Given the description of an element on the screen output the (x, y) to click on. 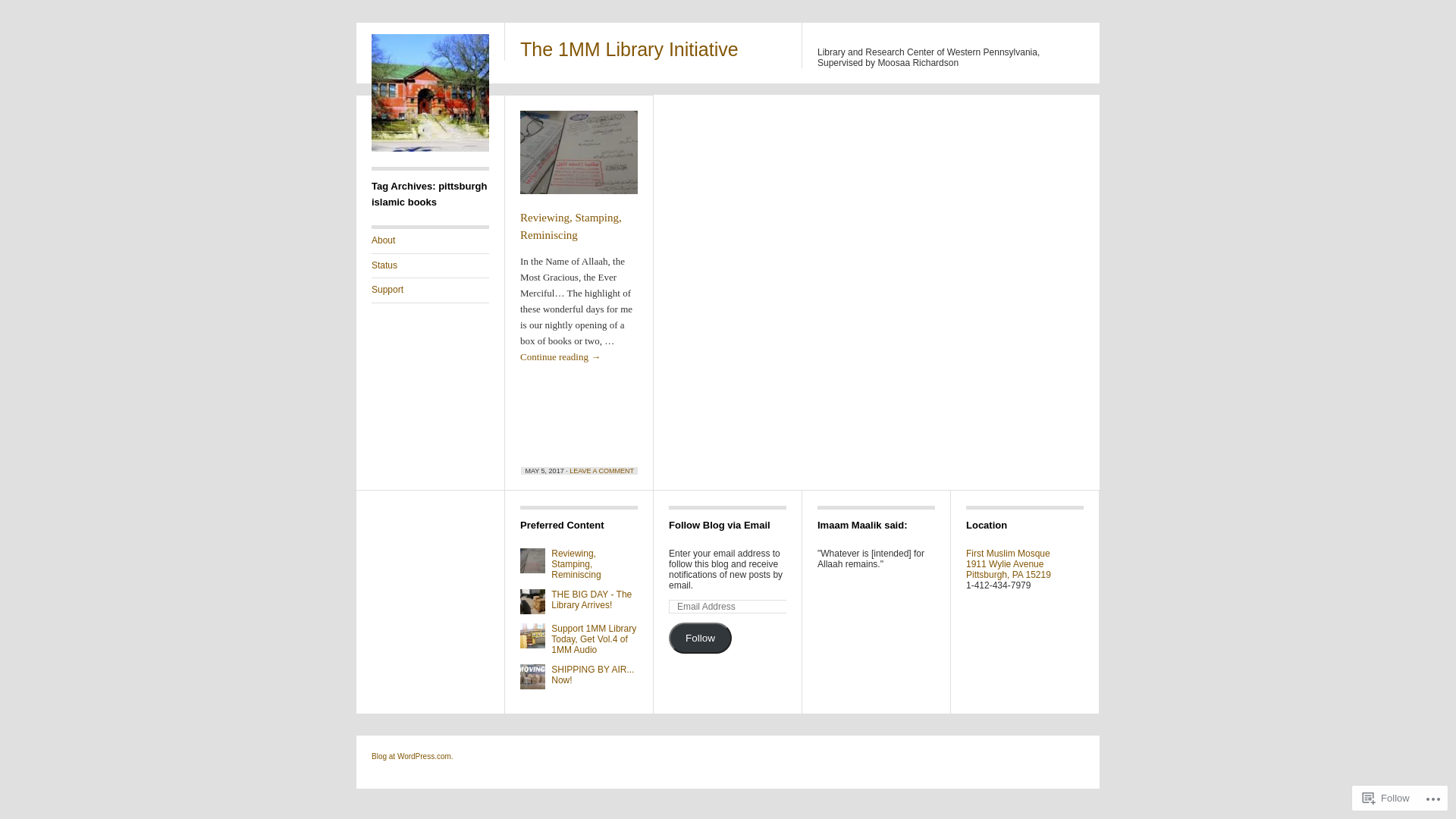
LEAVE A COMMENT Element type: text (601, 470)
Reviewing, Stamping, Reminiscing Element type: text (570, 226)
Status Element type: text (430, 266)
Reviewing, Stamping, Reminiscing Element type: text (575, 564)
Follow Element type: text (1385, 797)
Blog at WordPress.com. Element type: text (412, 756)
Permalink to Reviewing, Stamping, Reminiscing Element type: hover (578, 158)
First Muslim Mosque
1911 Wylie Avenue
Pittsburgh, PA 15219 Element type: text (1008, 564)
SHIPPING BY AIR... Now! Element type: text (592, 674)
THE BIG DAY - The Library Arrives! Element type: text (591, 599)
The 1MM Library Initiative Element type: text (629, 48)
Support 1MM Library Today, Get Vol.4 of 1MM Audio Element type: text (593, 639)
Follow Element type: text (699, 637)
Support Element type: text (430, 290)
The 1MM Library Initiative Element type: hover (430, 148)
About Element type: text (430, 241)
